Given the description of an element on the screen output the (x, y) to click on. 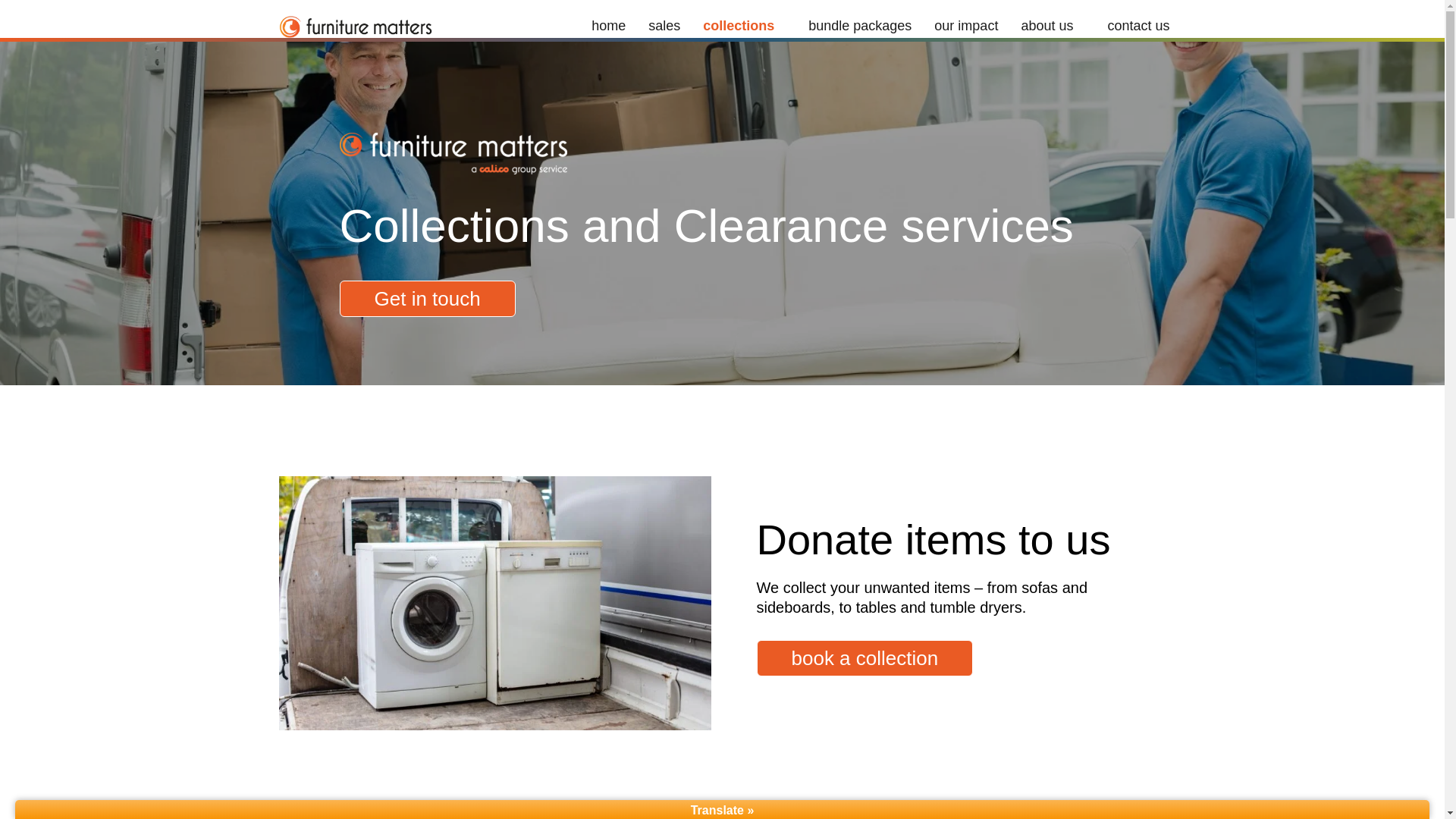
our impact (966, 26)
about us (1052, 26)
contact us (1138, 26)
book a collection (865, 657)
sales (664, 26)
bundle packages (859, 26)
Get in touch (427, 298)
collections (743, 26)
home (608, 26)
